Given the description of an element on the screen output the (x, y) to click on. 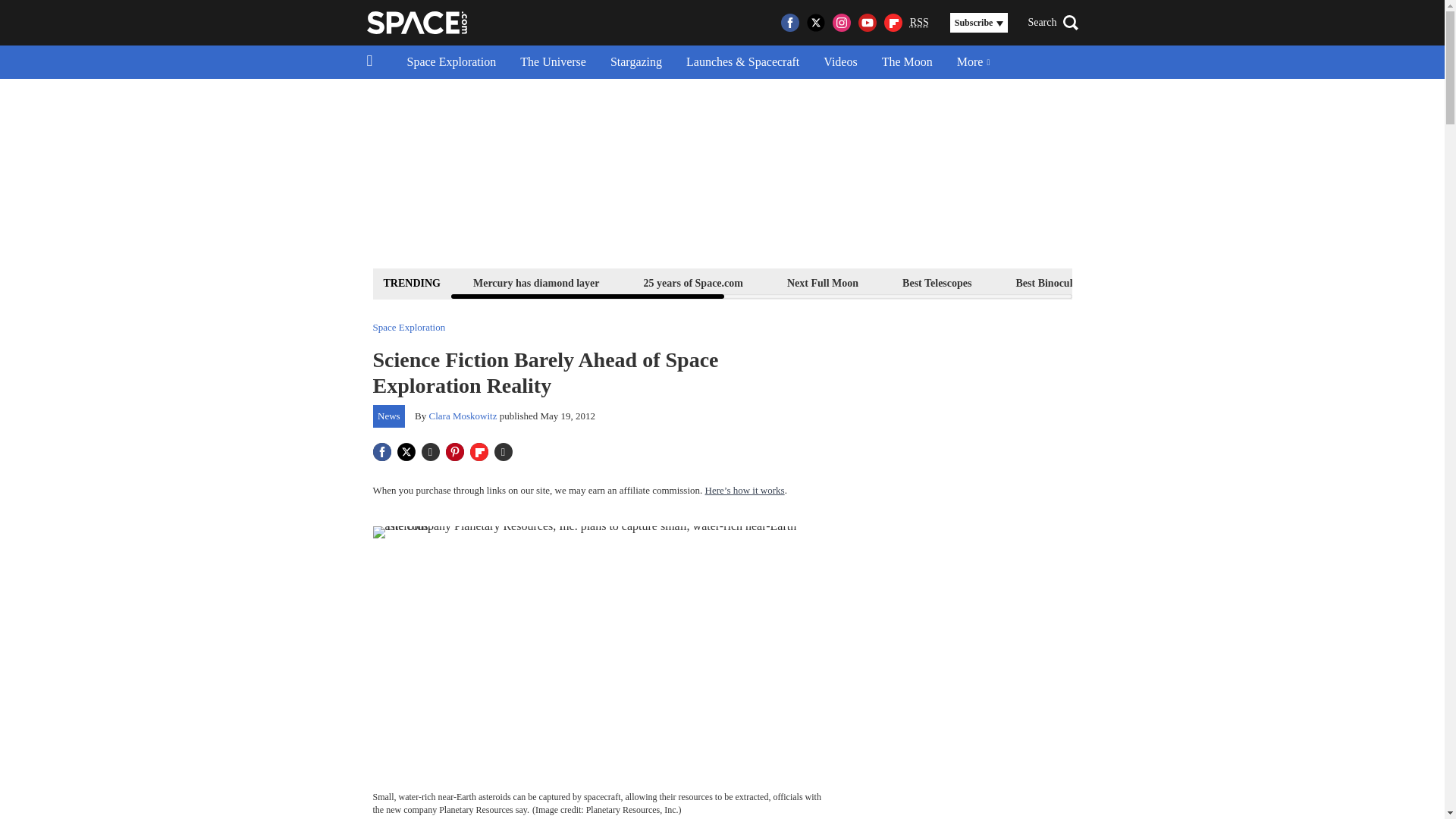
Space Exploration (451, 61)
25 years of Space.com (693, 282)
Next Full Moon (822, 282)
Best Star Projectors (1176, 282)
Videos (839, 61)
The Moon (906, 61)
Stargazing (636, 61)
RSS (919, 22)
Best Binoculars (1051, 282)
Space Calendar (1301, 282)
The Universe (553, 61)
Mercury has diamond layer (536, 282)
Really Simple Syndication (919, 21)
Best Telescopes (936, 282)
